Given the description of an element on the screen output the (x, y) to click on. 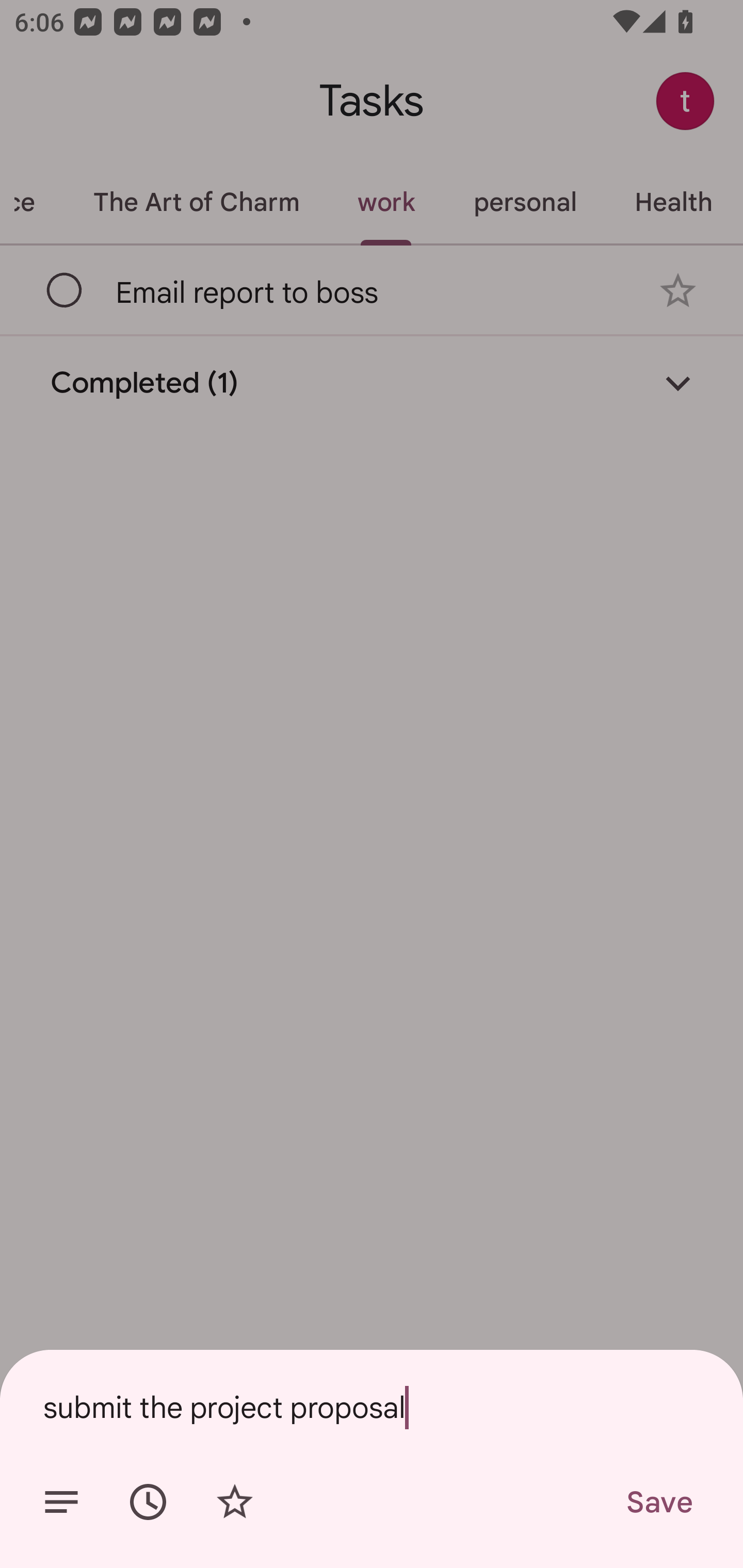
submit the project proposal (371, 1407)
Save (659, 1501)
Add details (60, 1501)
Set date/time (147, 1501)
Add star (234, 1501)
